Given the description of an element on the screen output the (x, y) to click on. 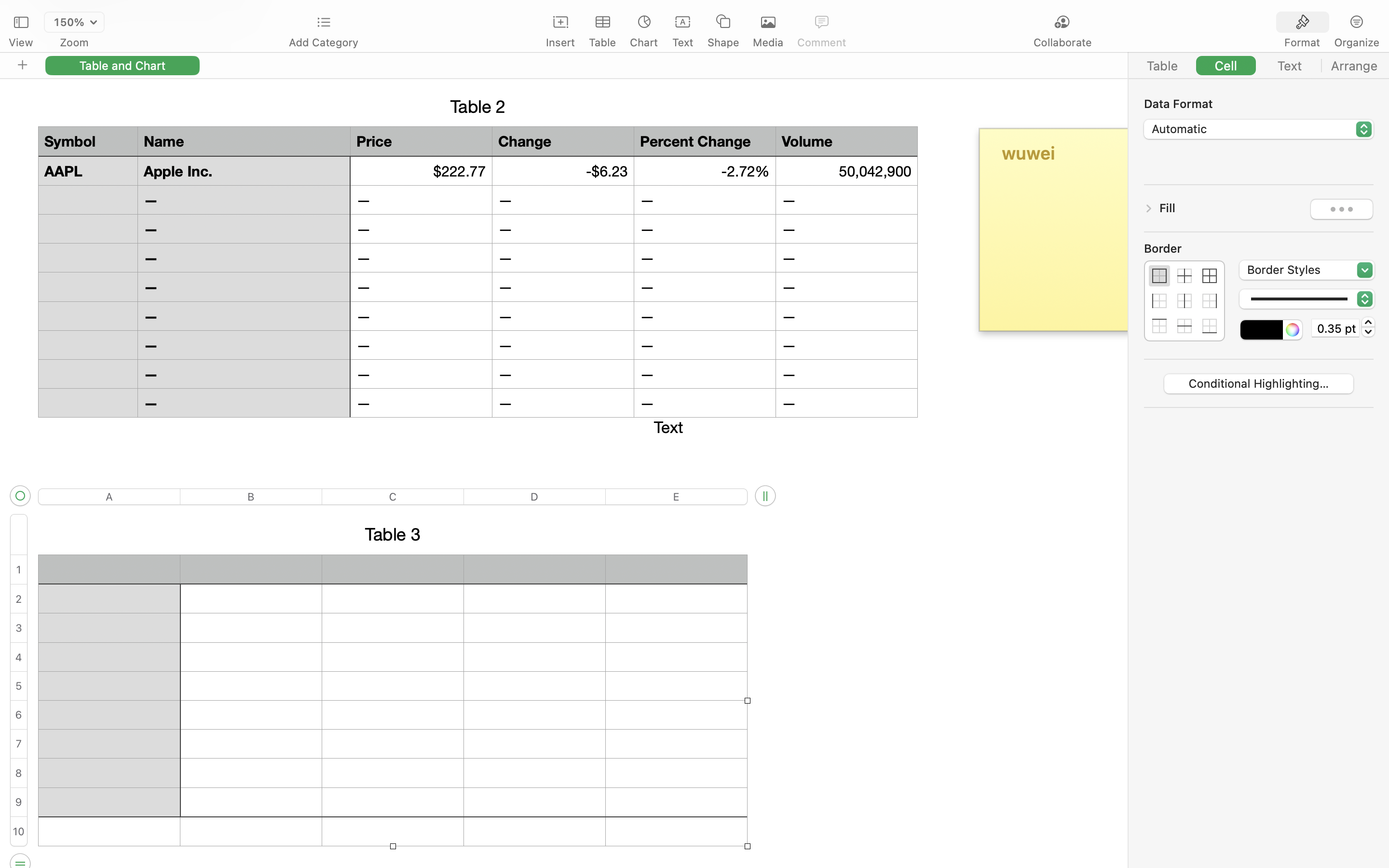
Zoom Element type: AXStaticText (73, 42)
Automatic Element type: AXPopUpButton (1259, 130)
Add Category Element type: AXStaticText (322, 42)
Untitled Element type: AXStaticText (667, 12)
<AXUIElement 0x1252f2080> {pid=1420} Element type: AXGroup (1329, 22)
